Given the description of an element on the screen output the (x, y) to click on. 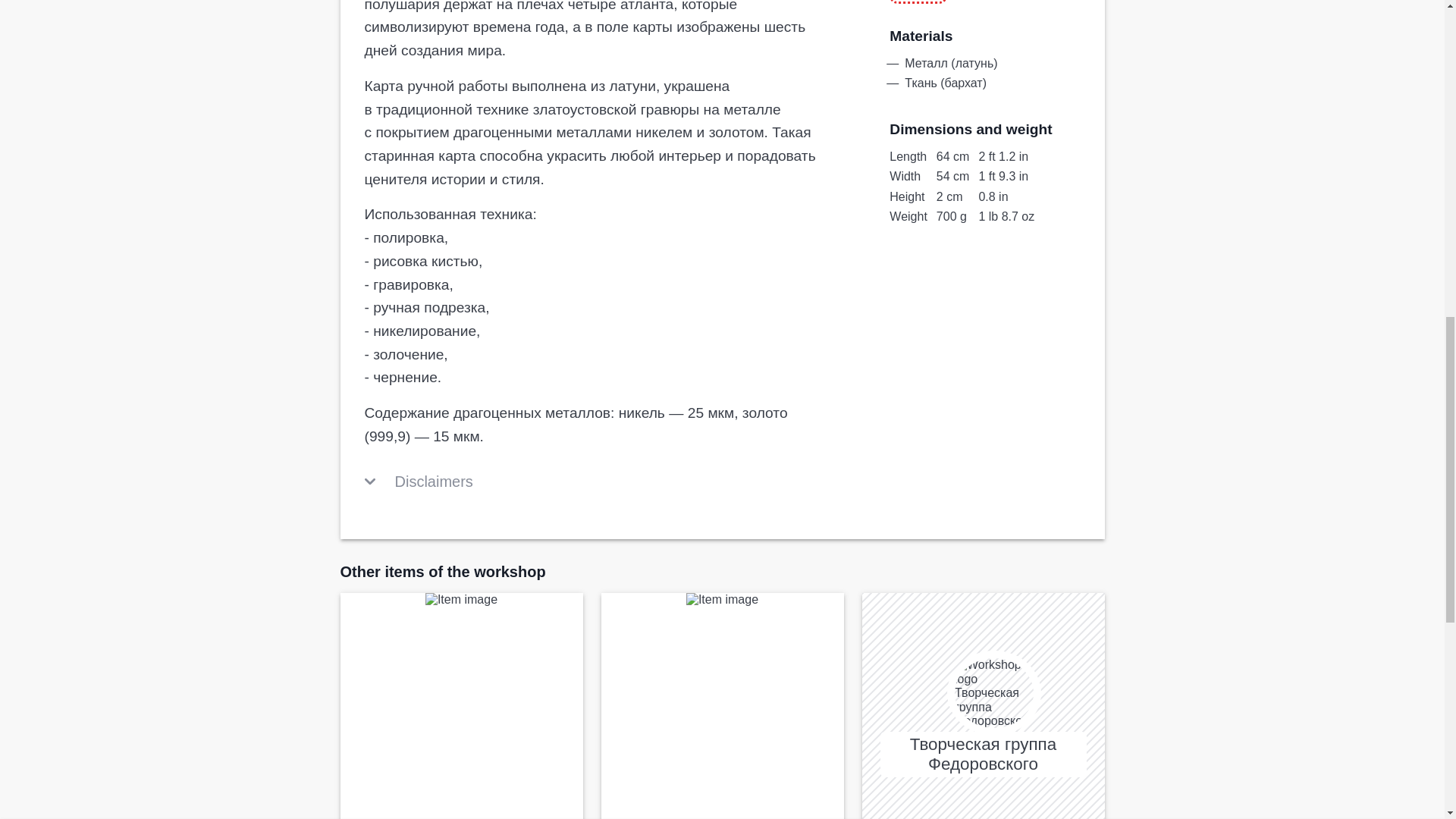
Notice on the Use and Processing of Cookies (702, 22)
I agree (1011, 29)
